Given the description of an element on the screen output the (x, y) to click on. 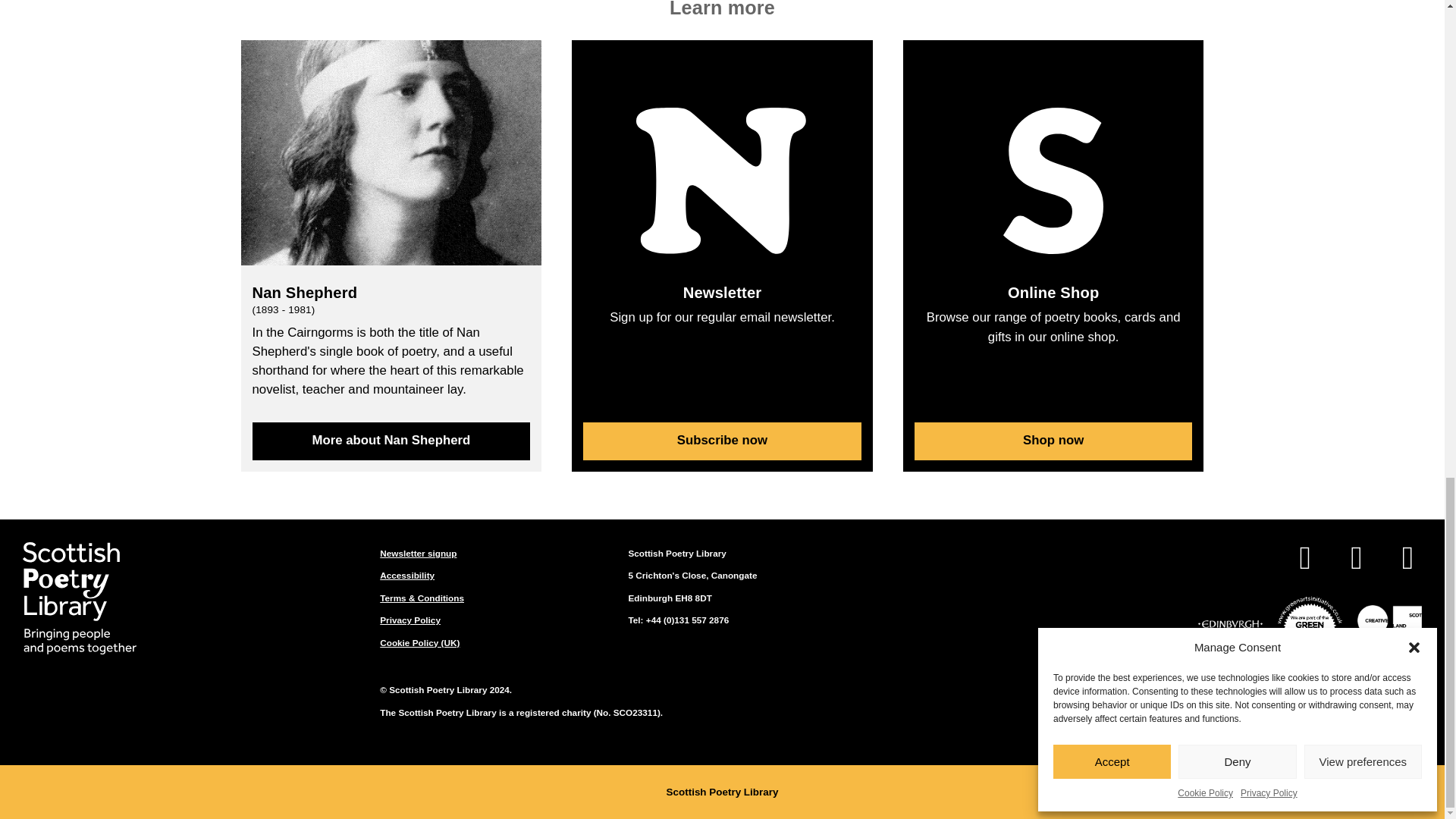
Creative Scotland (1389, 626)
Scottish Poetry Library on Facebook (1304, 560)
Scottish Poetry Library logo (79, 598)
City of Edinburgh Council (1230, 626)
Scottish Poetry Library on Instagram (1407, 560)
Green Arts Initiative (1310, 626)
Scottish Poetry Library on Twitter (1355, 560)
